Given the description of an element on the screen output the (x, y) to click on. 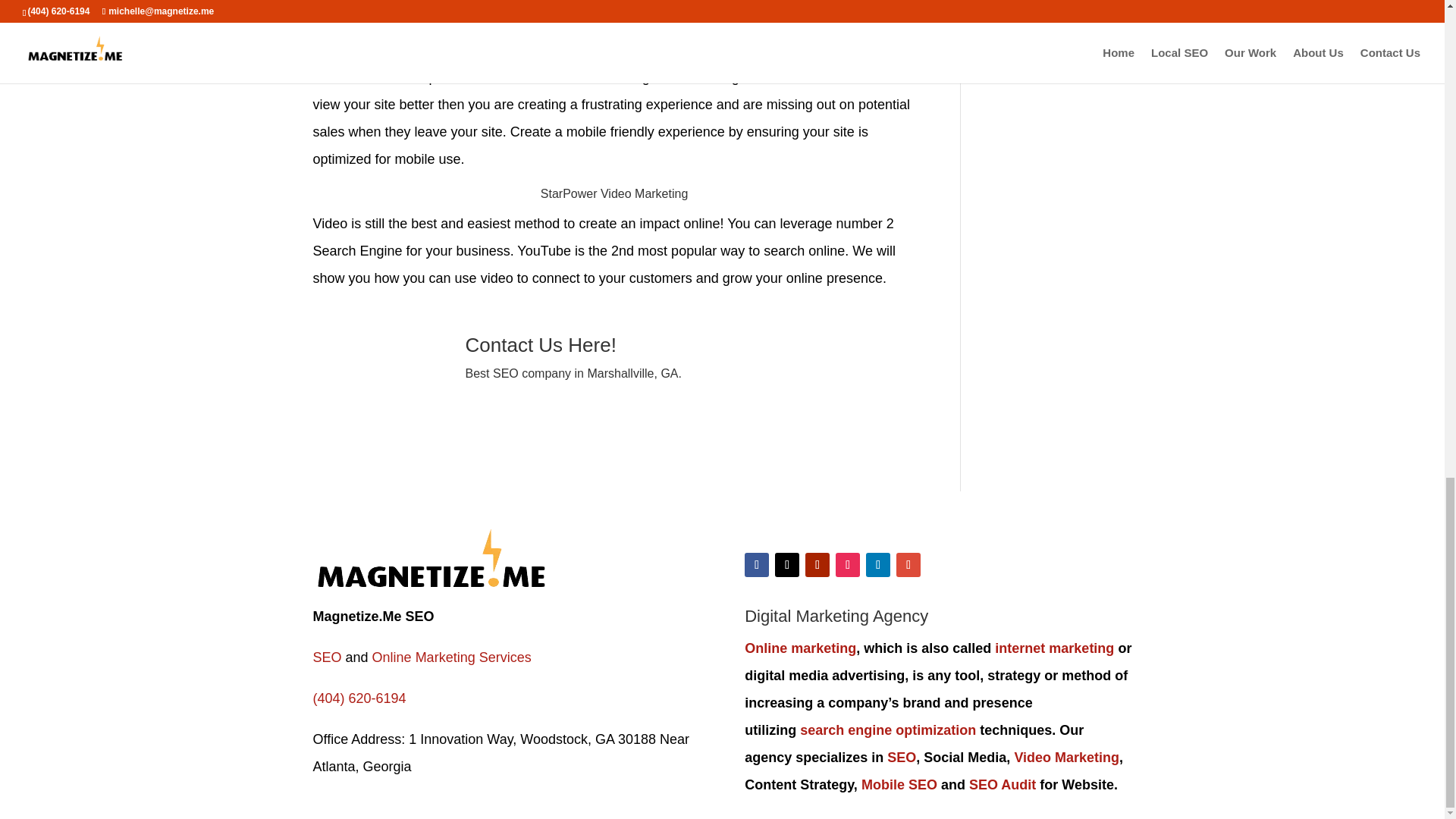
 Online Marketing Services (449, 657)
Follow on Instagram (847, 564)
Follow on LinkedIn (877, 564)
search engine optimization (887, 729)
SEO (326, 657)
Follow on google-plus (908, 564)
internet marketing (1053, 648)
Follow on X (786, 564)
Mobile SEO (899, 784)
Follow on Facebook (756, 564)
SEO (900, 757)
Video Marketing (1066, 757)
Online marketing (800, 648)
Contact Us Here!   (546, 344)
SEO Audit (1002, 784)
